Given the description of an element on the screen output the (x, y) to click on. 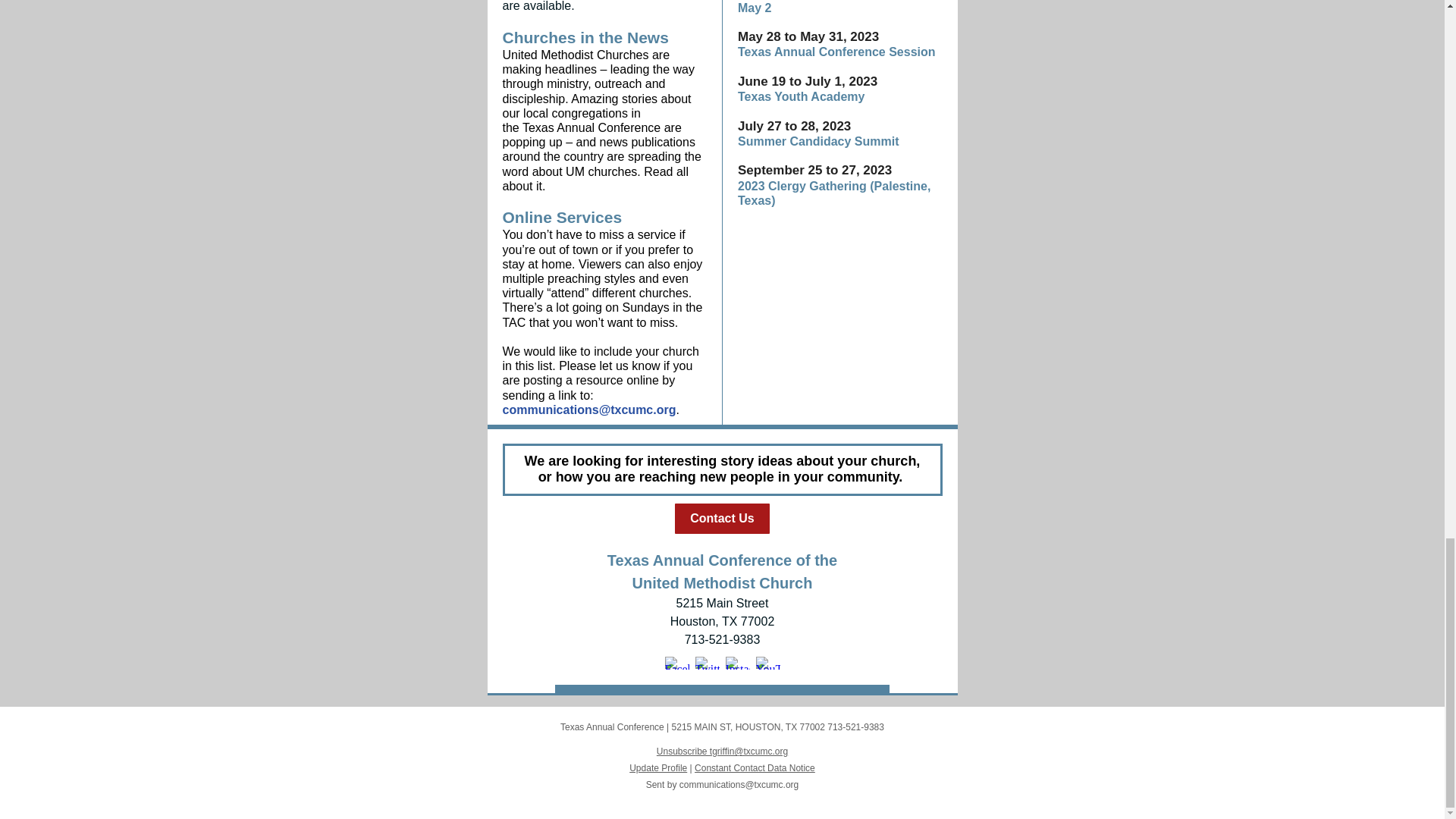
May 2 (754, 7)
Texas Annual Conference of (710, 560)
Contact Us (722, 517)
Texas Youth Academy (801, 96)
Texas Annual Conference Session (837, 51)
United Methodist Church (721, 582)
Update Profile (657, 767)
Churches in the News (585, 36)
the (825, 560)
Constant Contact Data Notice (754, 767)
